Given the description of an element on the screen output the (x, y) to click on. 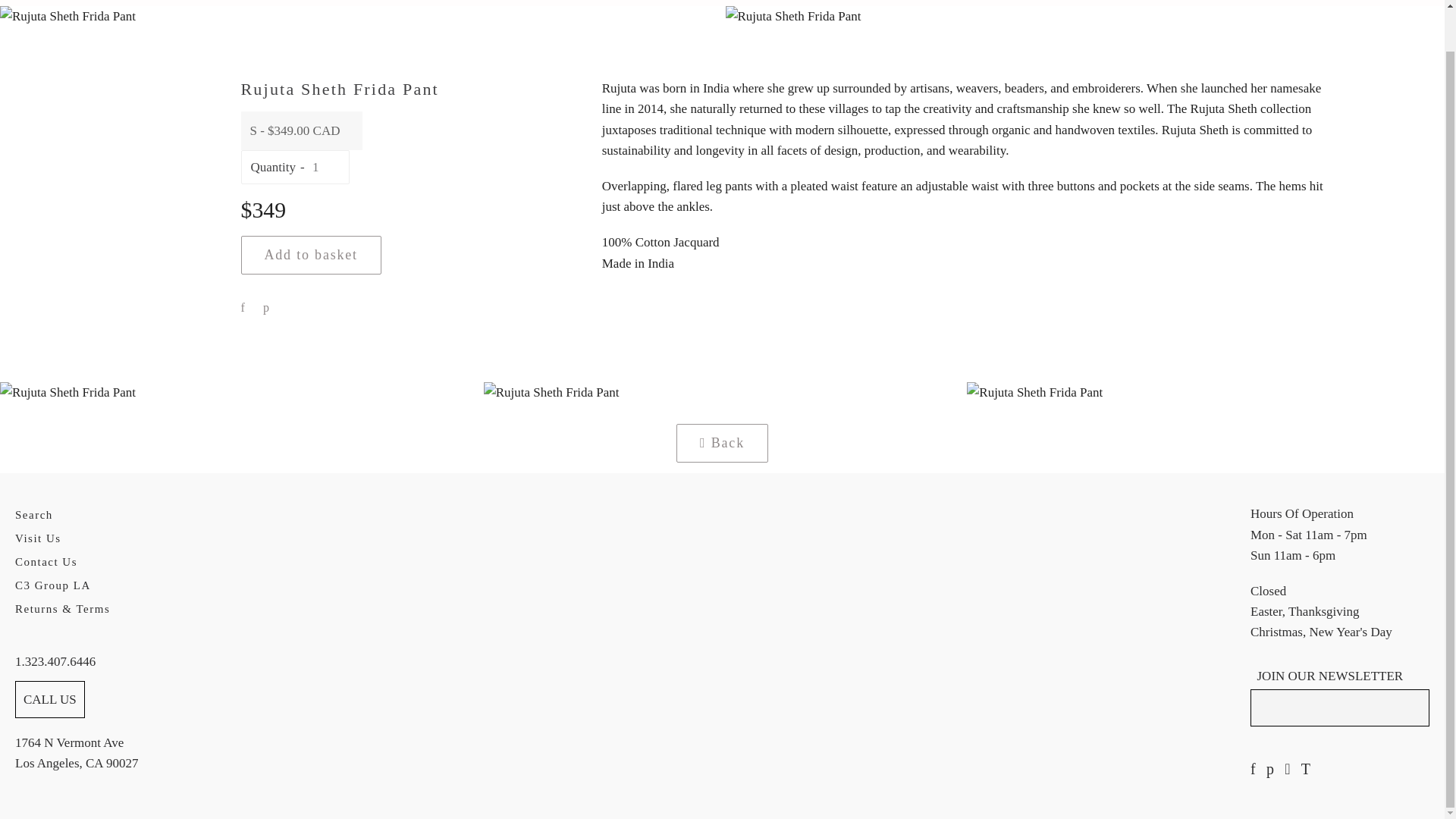
BellJar on Instagram (1287, 769)
Pin on Pinterest (266, 307)
BellJar on Facebook (1252, 769)
Share on Facebook (241, 307)
BellJar on Twitter (1305, 769)
BellJar on Pinterest (1270, 769)
